Given the description of an element on the screen output the (x, y) to click on. 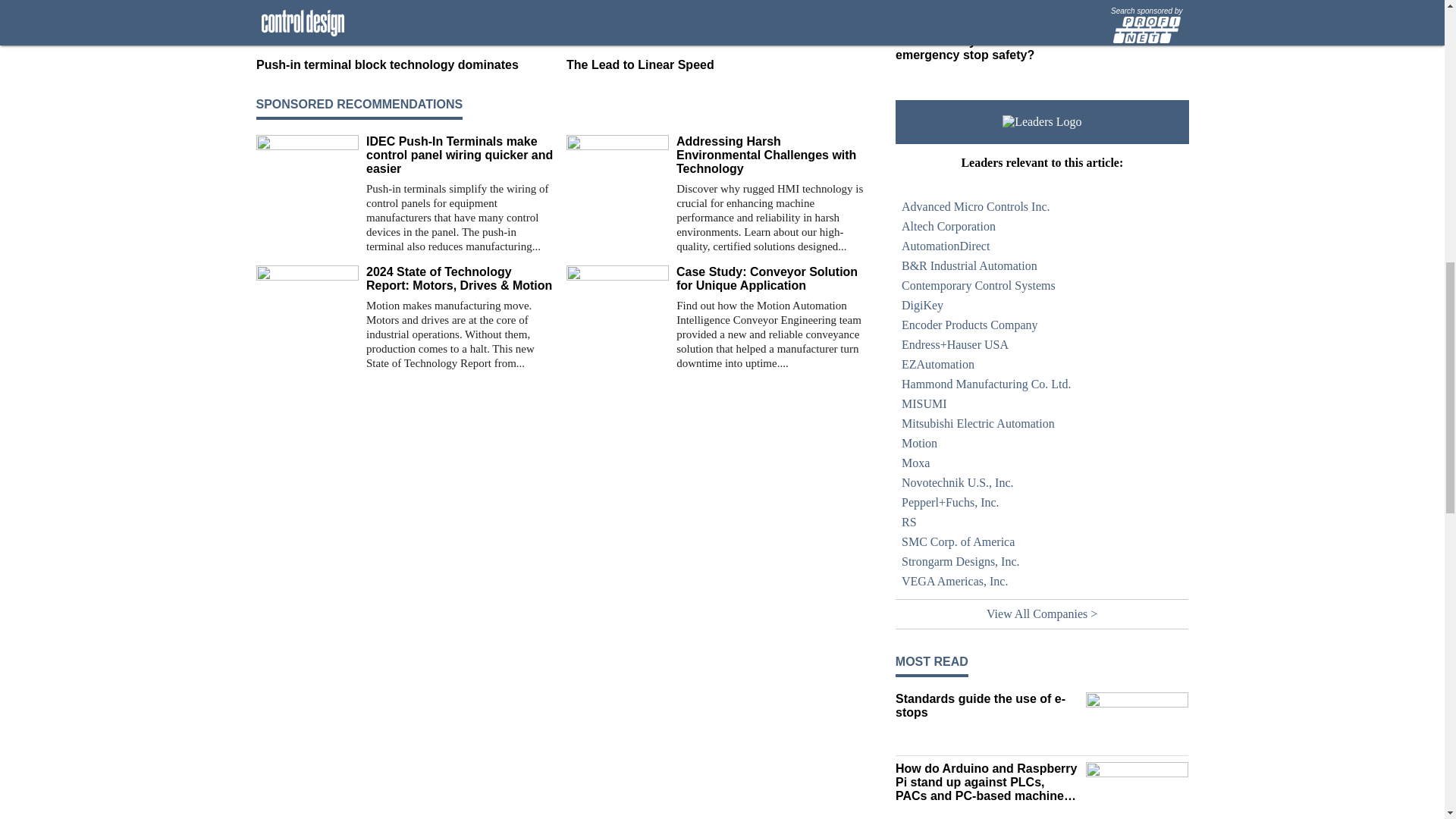
Advanced Micro Controls Inc. (1042, 207)
AutomationDirect (1042, 246)
Altech Corporation (1042, 226)
Push-in terminal block technology dominates (405, 65)
DigiKey (1042, 305)
The Lead to Linear Speed (715, 65)
How well do you know emergency stop safety? (986, 48)
Festo (908, 2)
Case Study: Conveyor Solution for Unique Application (770, 278)
Addressing Harsh Environmental Challenges with Technology (770, 155)
Home (986, 25)
Contemporary Control Systems (1042, 285)
